Given the description of an element on the screen output the (x, y) to click on. 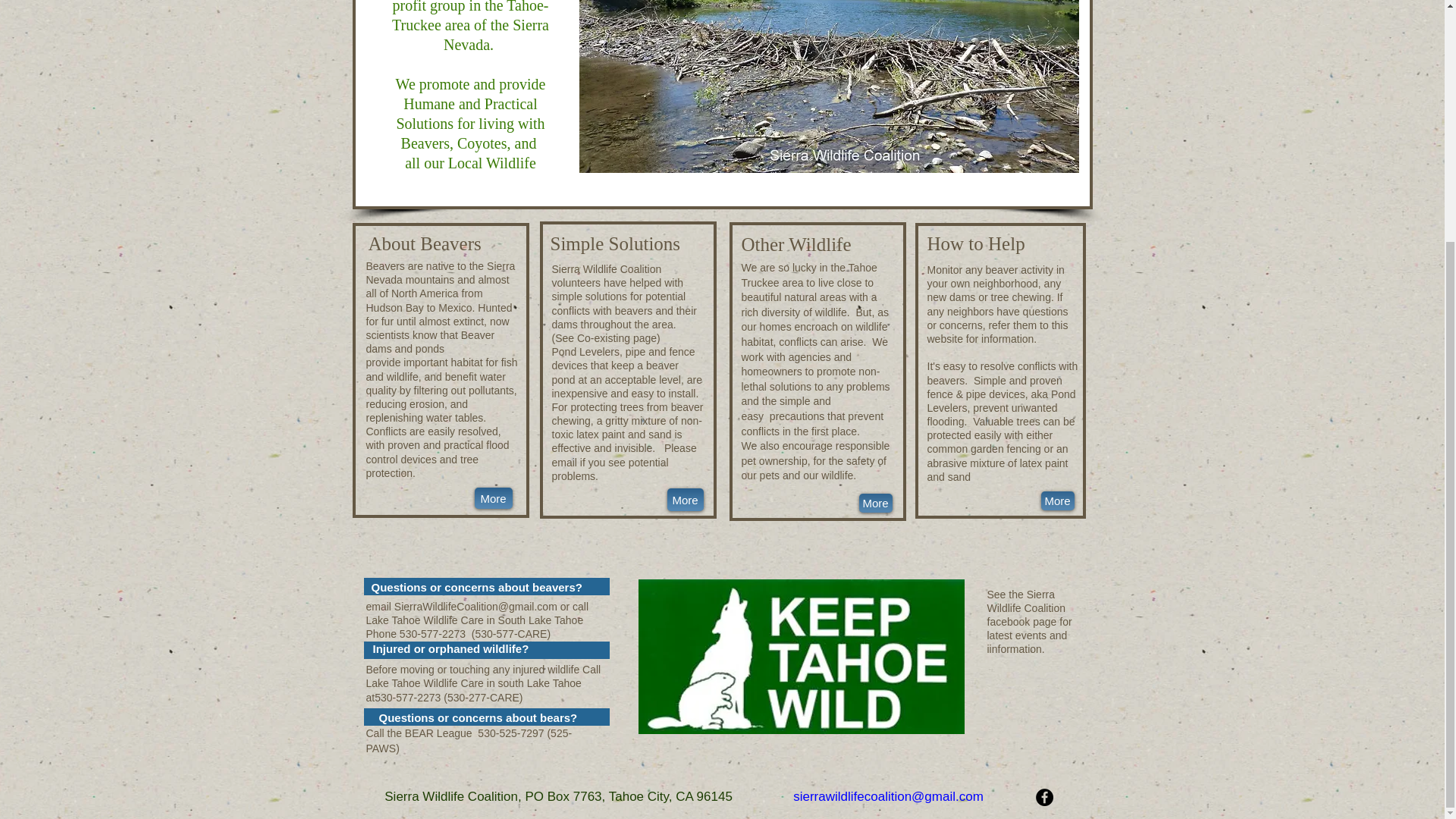
More (875, 502)
More (493, 497)
More (1057, 500)
More (684, 499)
Keep Tahoe Wild.jpg (801, 656)
